Given the description of an element on the screen output the (x, y) to click on. 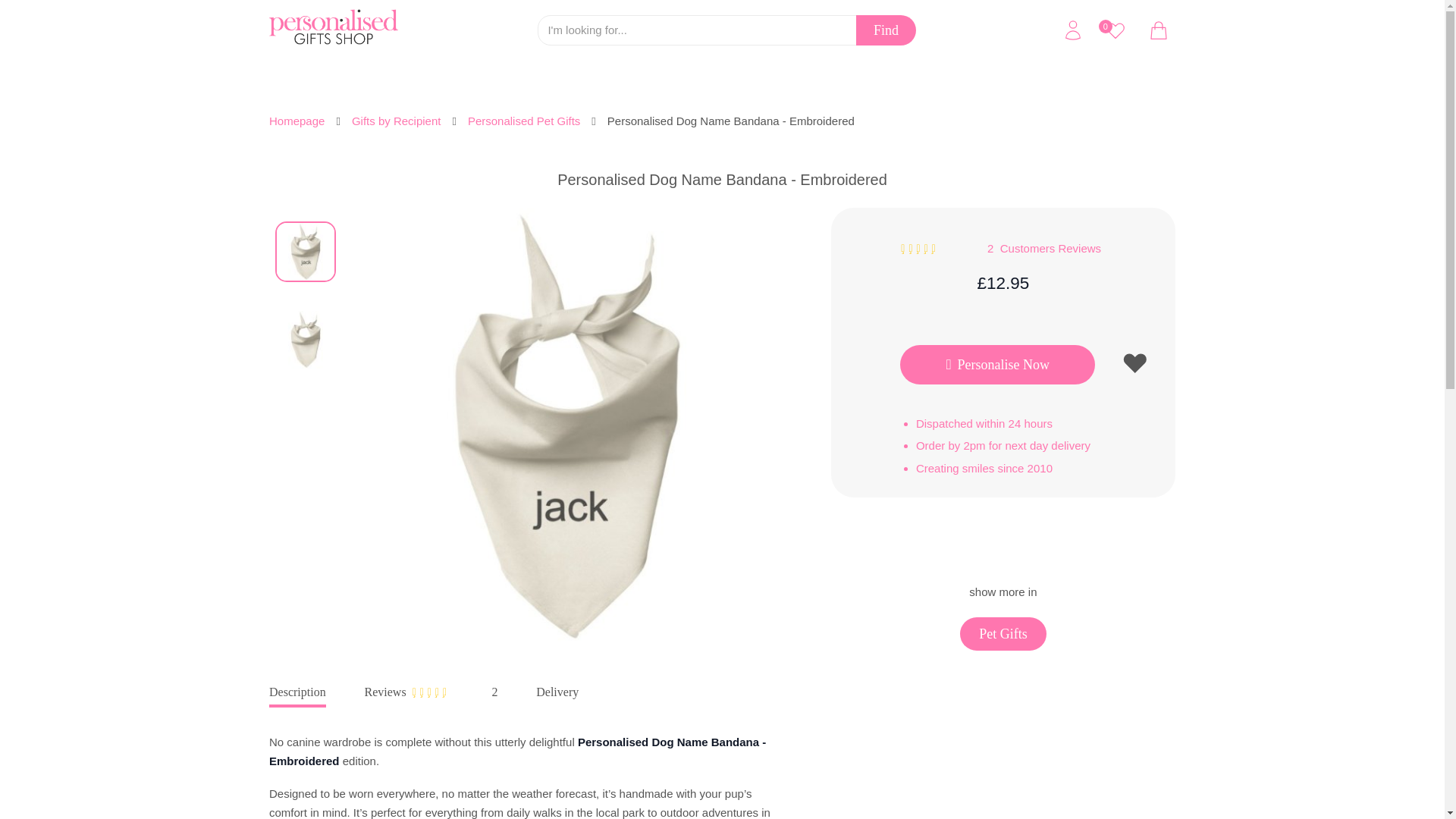
View larger image (304, 339)
View cart, Cart is empty (1157, 29)
Homepage (296, 121)
Basket (1157, 29)
Go to Home Page (296, 121)
0 (1114, 29)
View larger image (304, 251)
Gifts by Recipient (396, 121)
